Given the description of an element on the screen output the (x, y) to click on. 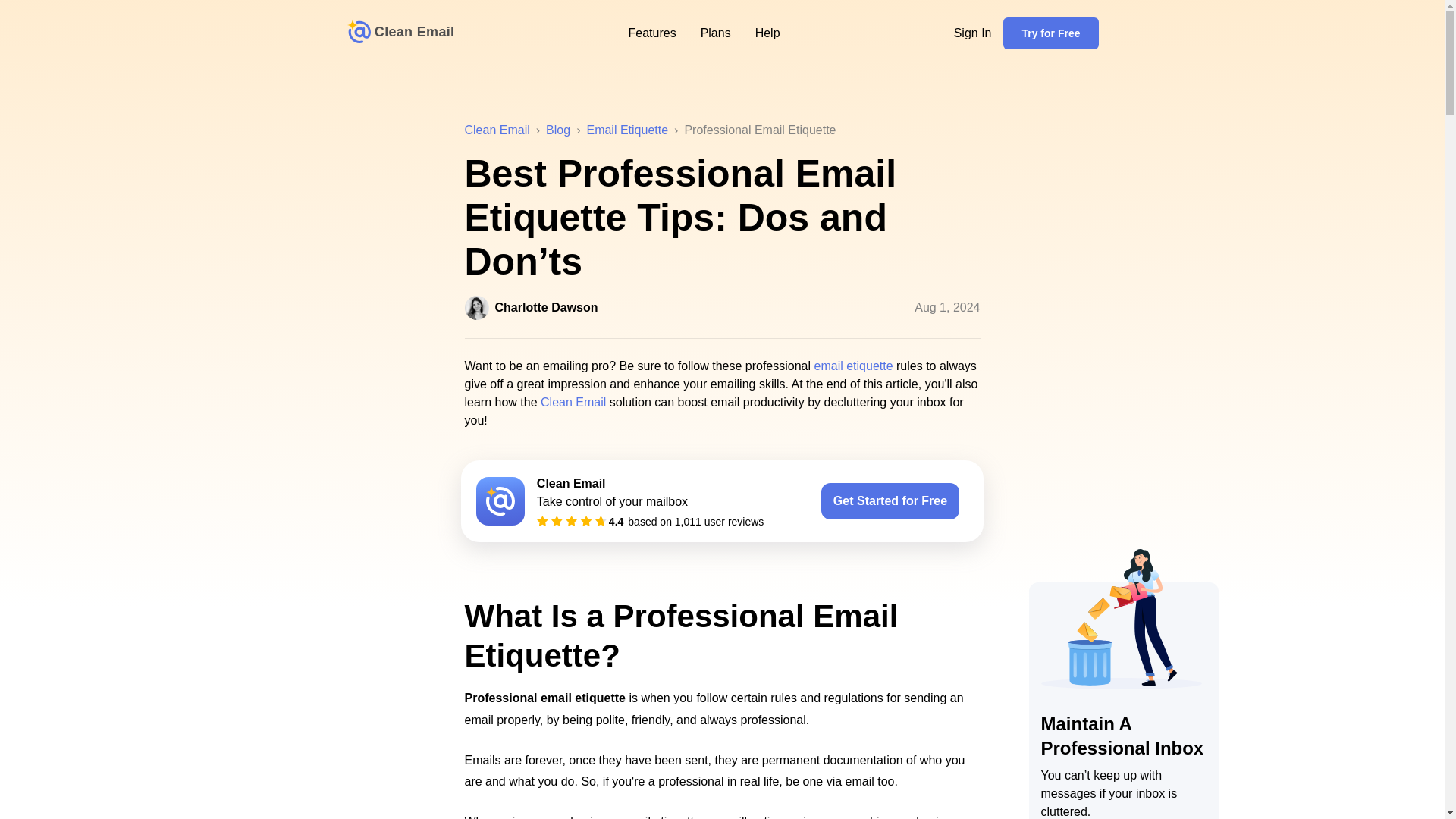
Email Etiquette (627, 129)
Sign In (972, 33)
Clean Email (496, 129)
 Clean Email (400, 32)
Home (400, 32)
email etiquette (853, 365)
Features (721, 307)
Clean Email (651, 33)
Blog (572, 401)
Try for Free (558, 129)
Get Started for Free (1050, 33)
